Given the description of an element on the screen output the (x, y) to click on. 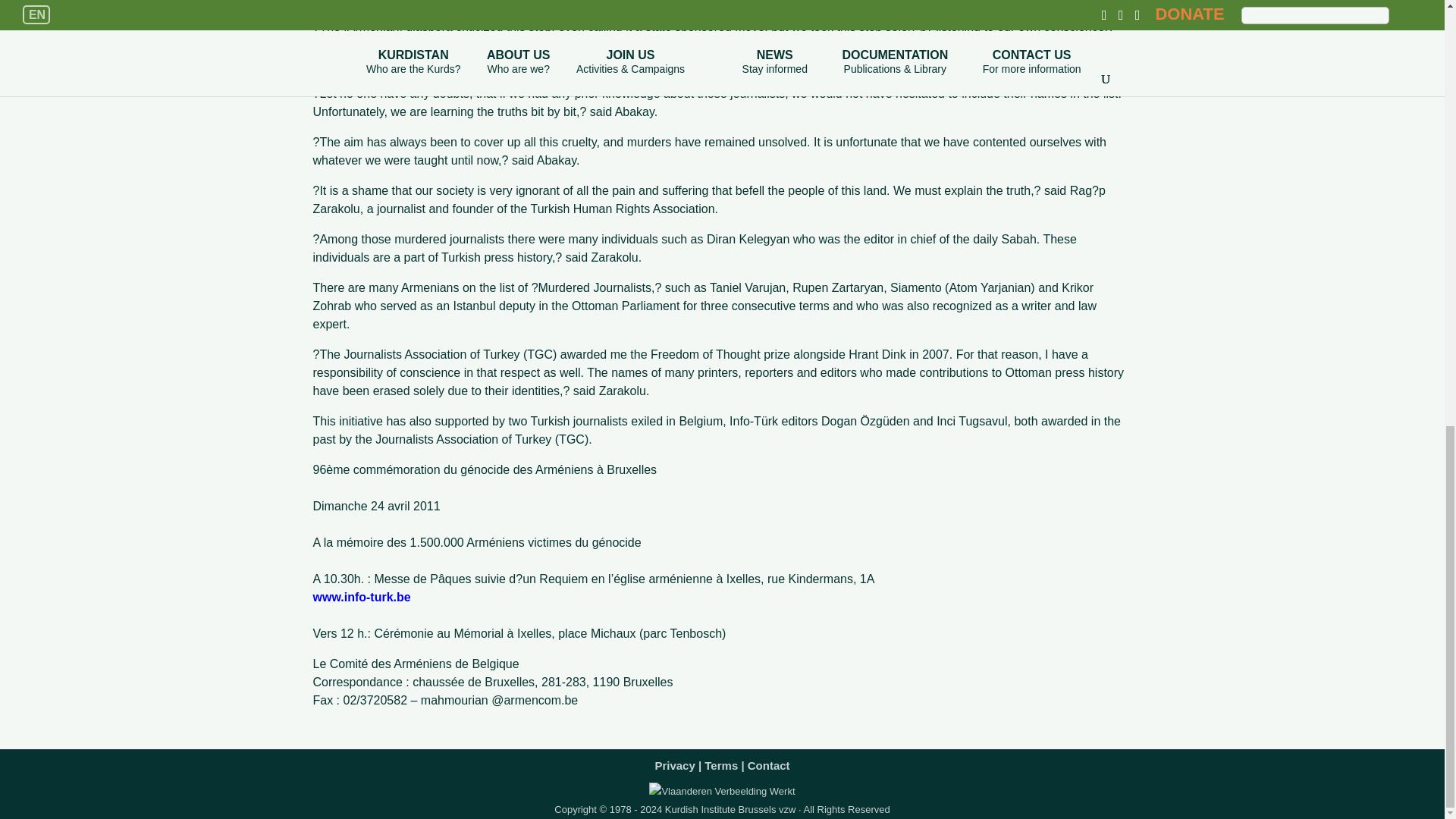
Contact (769, 761)
Terms (721, 761)
www.info-turk.be (361, 596)
Privacy (673, 761)
